Given the description of an element on the screen output the (x, y) to click on. 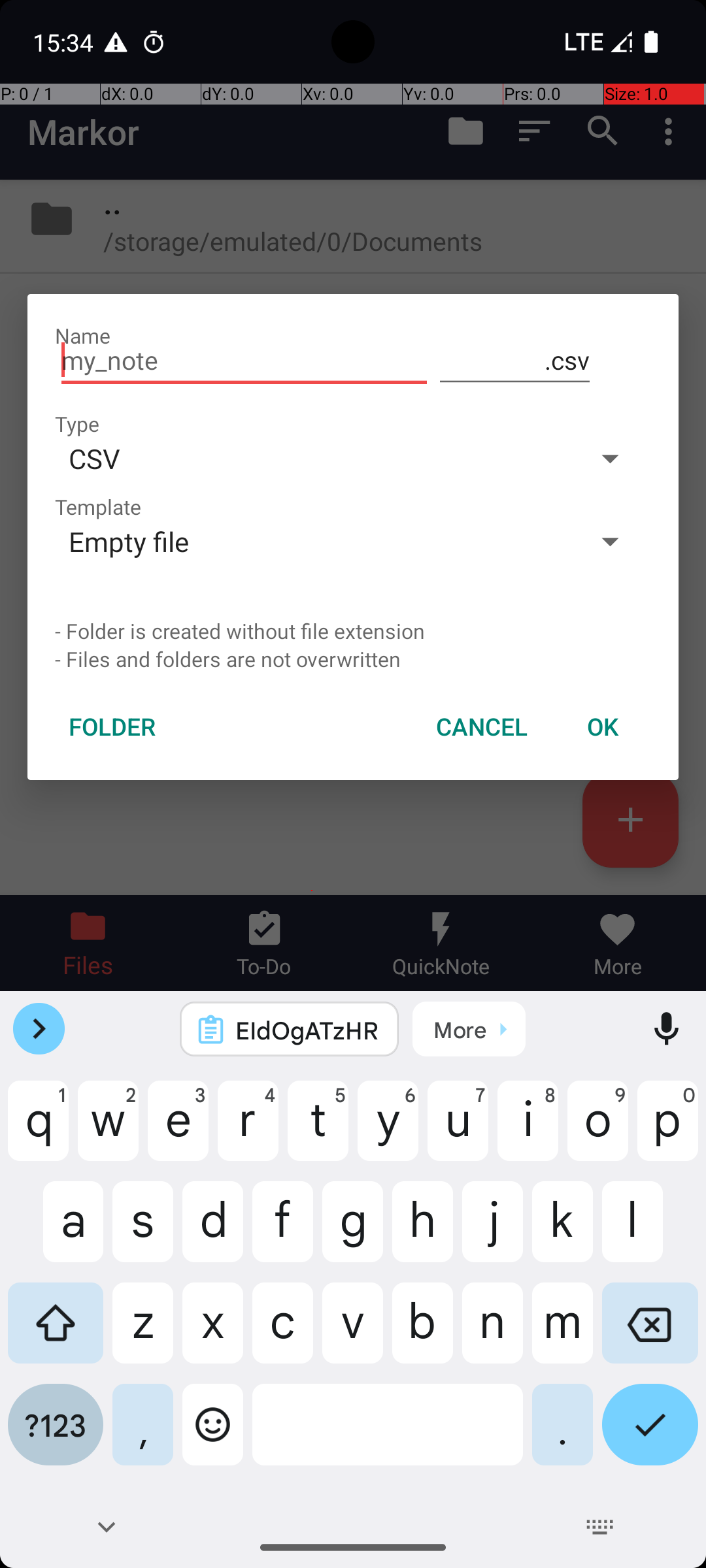
my_note Element type: android.widget.EditText (243, 360)
.csv Element type: android.widget.EditText (514, 360)
Type Element type: android.widget.TextView (76, 423)
Template Element type: android.widget.TextView (97, 506)
- Folder is created without file extension Element type: android.widget.TextView (352, 630)
- Files and folders are not overwritten Element type: android.widget.TextView (352, 658)
FOLDER Element type: android.widget.Button (111, 726)
CSV Element type: android.widget.TextView (311, 457)
Empty file Element type: android.widget.TextView (311, 540)
EIdOgATzHR Element type: android.widget.TextView (306, 1029)
